Given the description of an element on the screen output the (x, y) to click on. 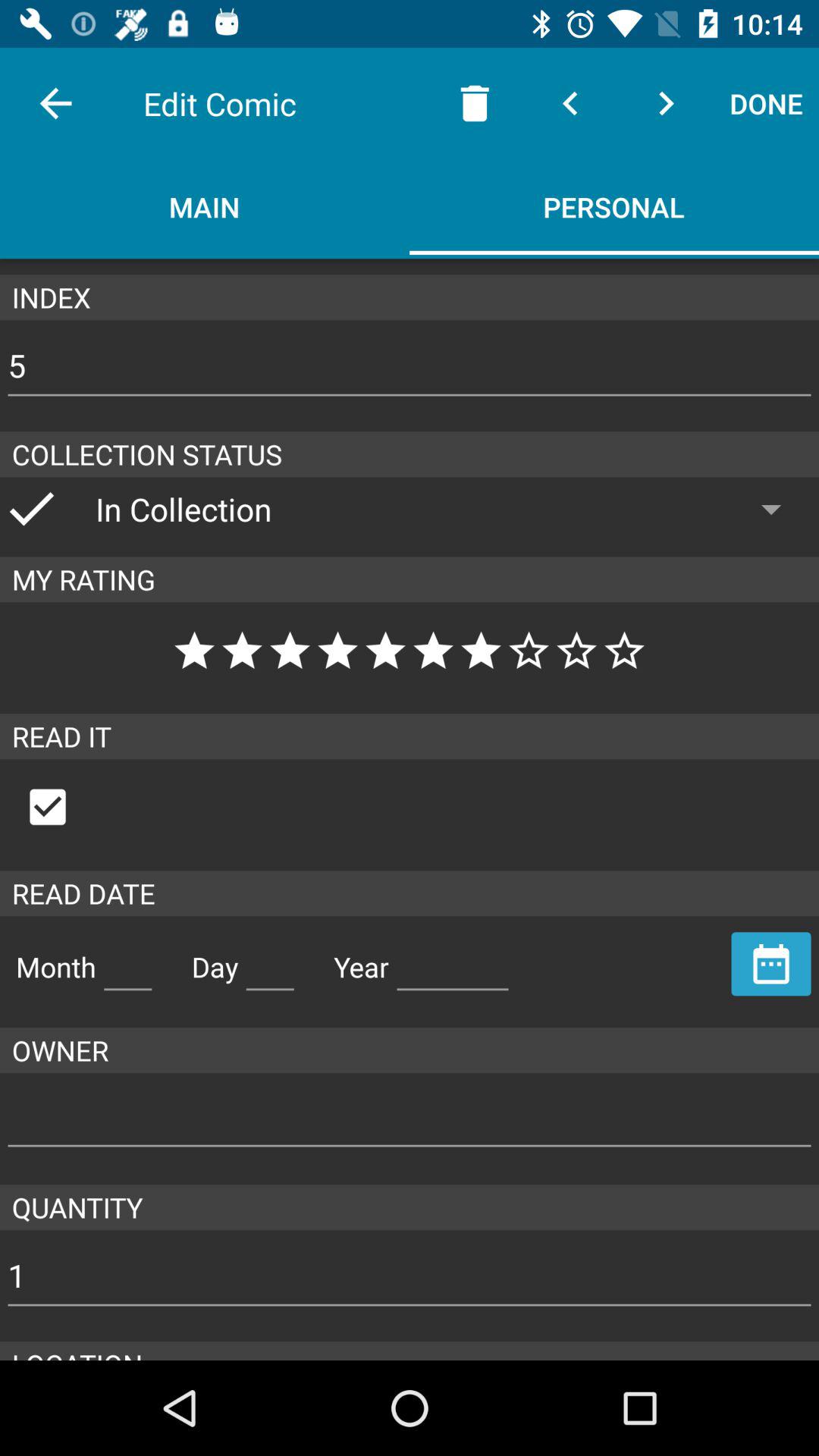
because back devicer (771, 963)
